Given the description of an element on the screen output the (x, y) to click on. 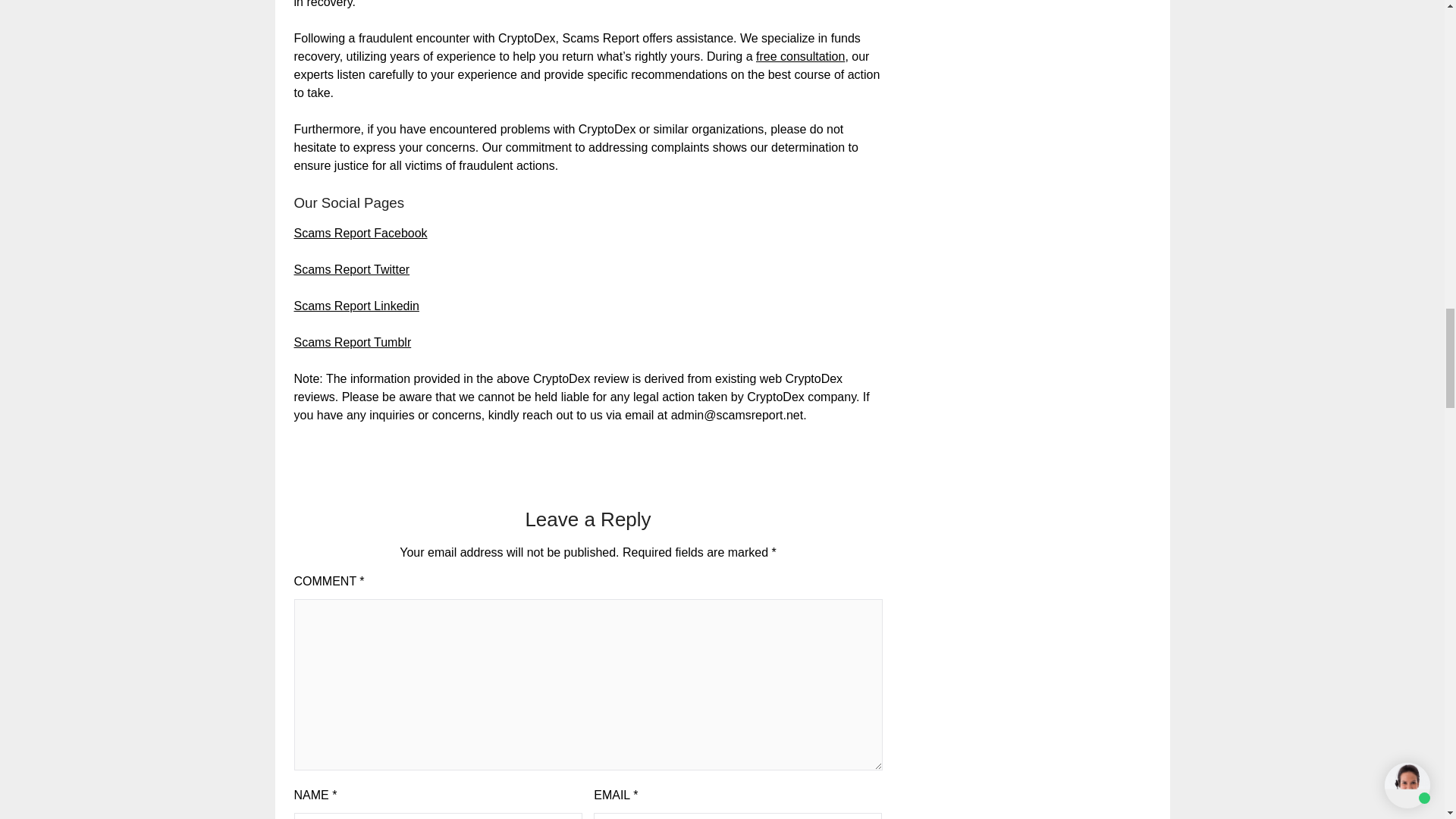
Scams Report Tumblr (353, 341)
Scams Report Linkedin (356, 305)
Scams Report Twitter (352, 269)
Scams Report Facebook (361, 232)
free consultation (799, 56)
